Given the description of an element on the screen output the (x, y) to click on. 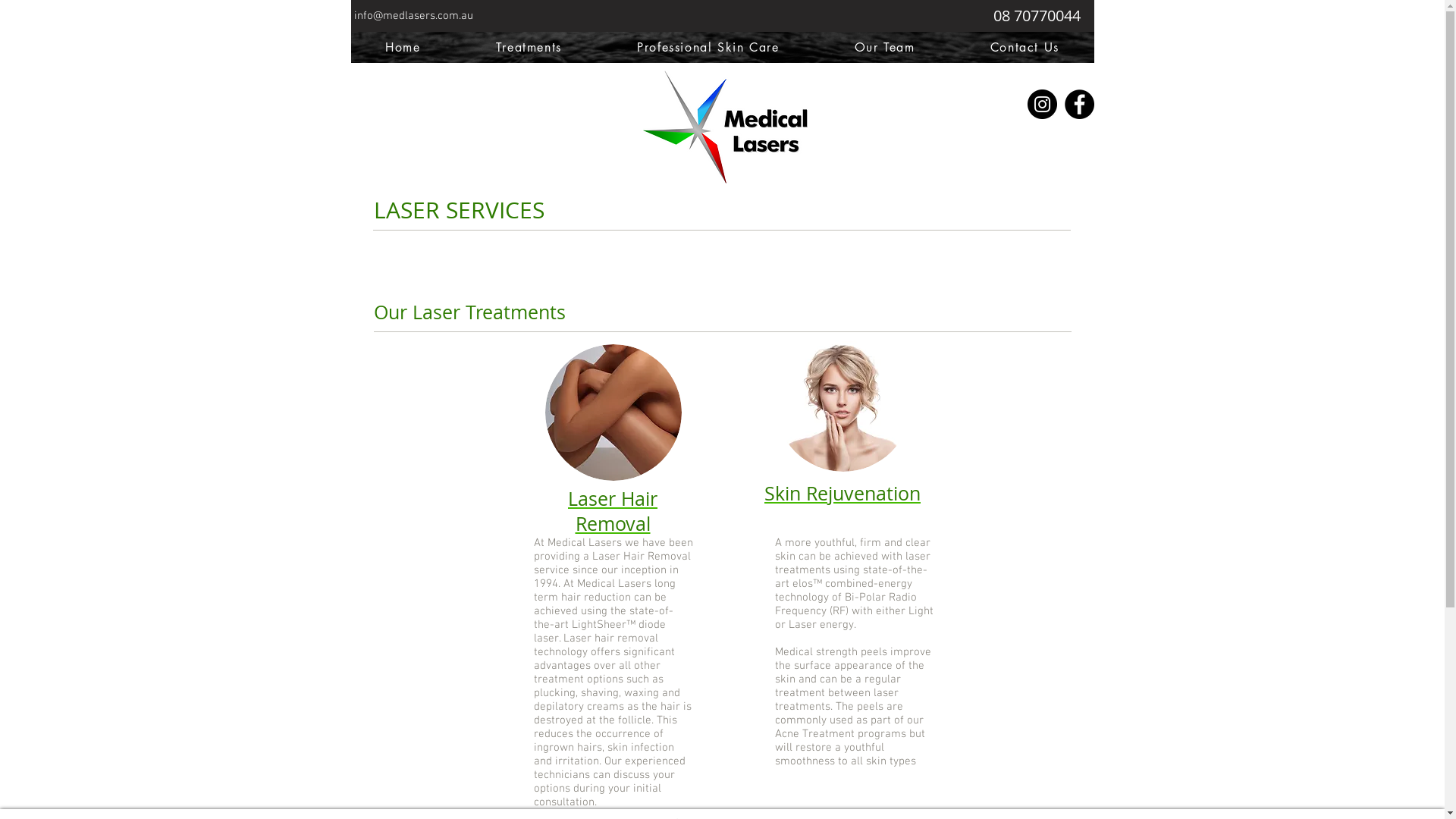
Contact Us Element type: text (1024, 46)
Skin Rejuvenation Element type: text (842, 492)
Laser Hair Removal Element type: hover (612, 412)
Our Team Element type: text (884, 46)
Laser Hair Removal Element type: text (612, 511)
info@medlasers.com.au Element type: text (412, 15)
Professional Skin Care Element type: text (708, 46)
Skin Rejuvenation Element type: hover (843, 403)
Home Element type: text (402, 46)
